Given the description of an element on the screen output the (x, y) to click on. 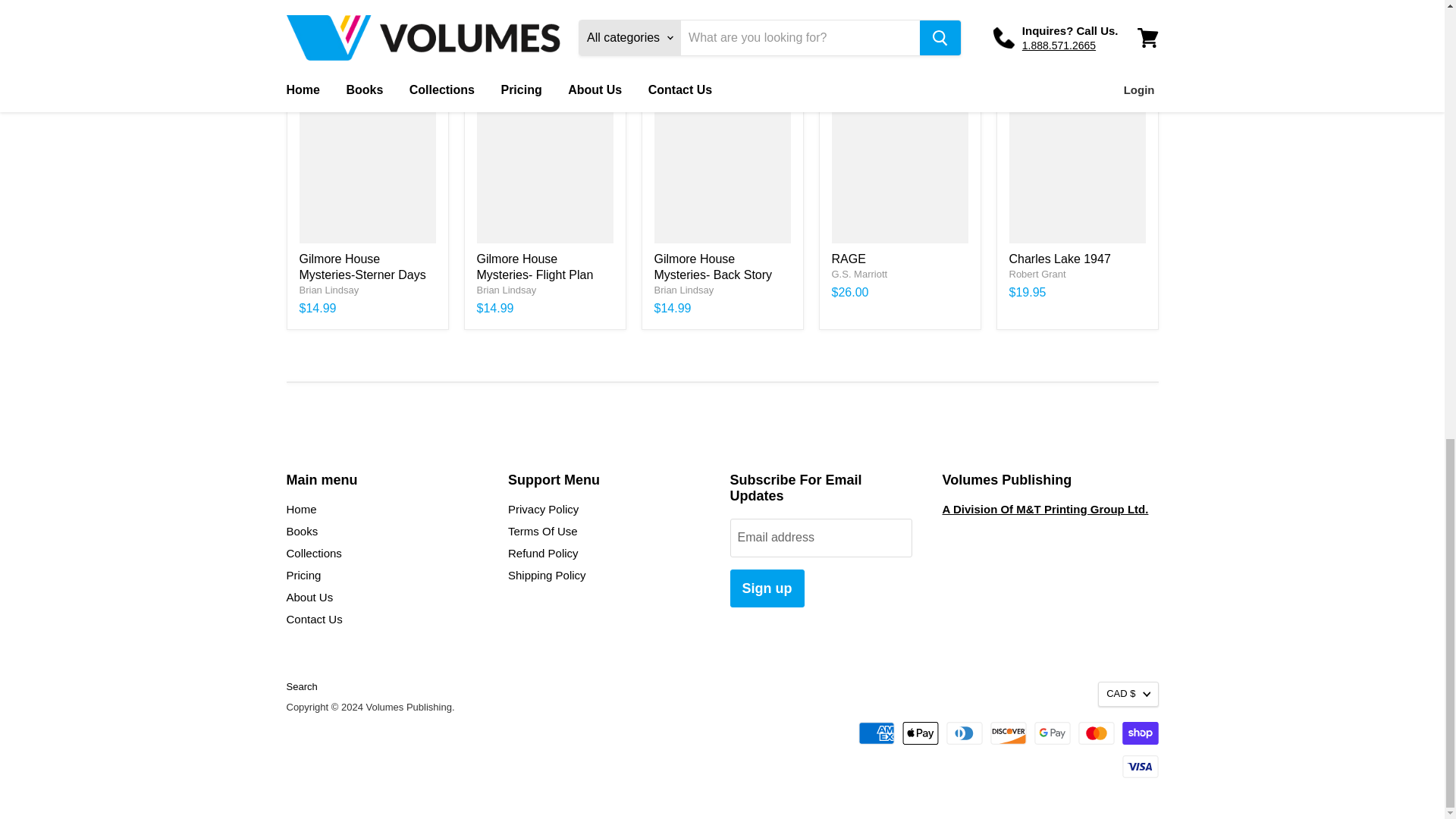
Gilmore House Mysteries-Sterner Days (361, 266)
Google Pay (1051, 732)
Robert Grant (1037, 274)
American Express (877, 732)
Discover (1008, 732)
Visa (1140, 766)
Brian Lindsay (328, 289)
Brian Lindsay (683, 289)
Shop Pay (1140, 732)
G.S. Marriott (858, 274)
Mastercard (1096, 732)
Brian Lindsay (505, 289)
Diners Club (964, 732)
Apple Pay (920, 732)
